Given the description of an element on the screen output the (x, y) to click on. 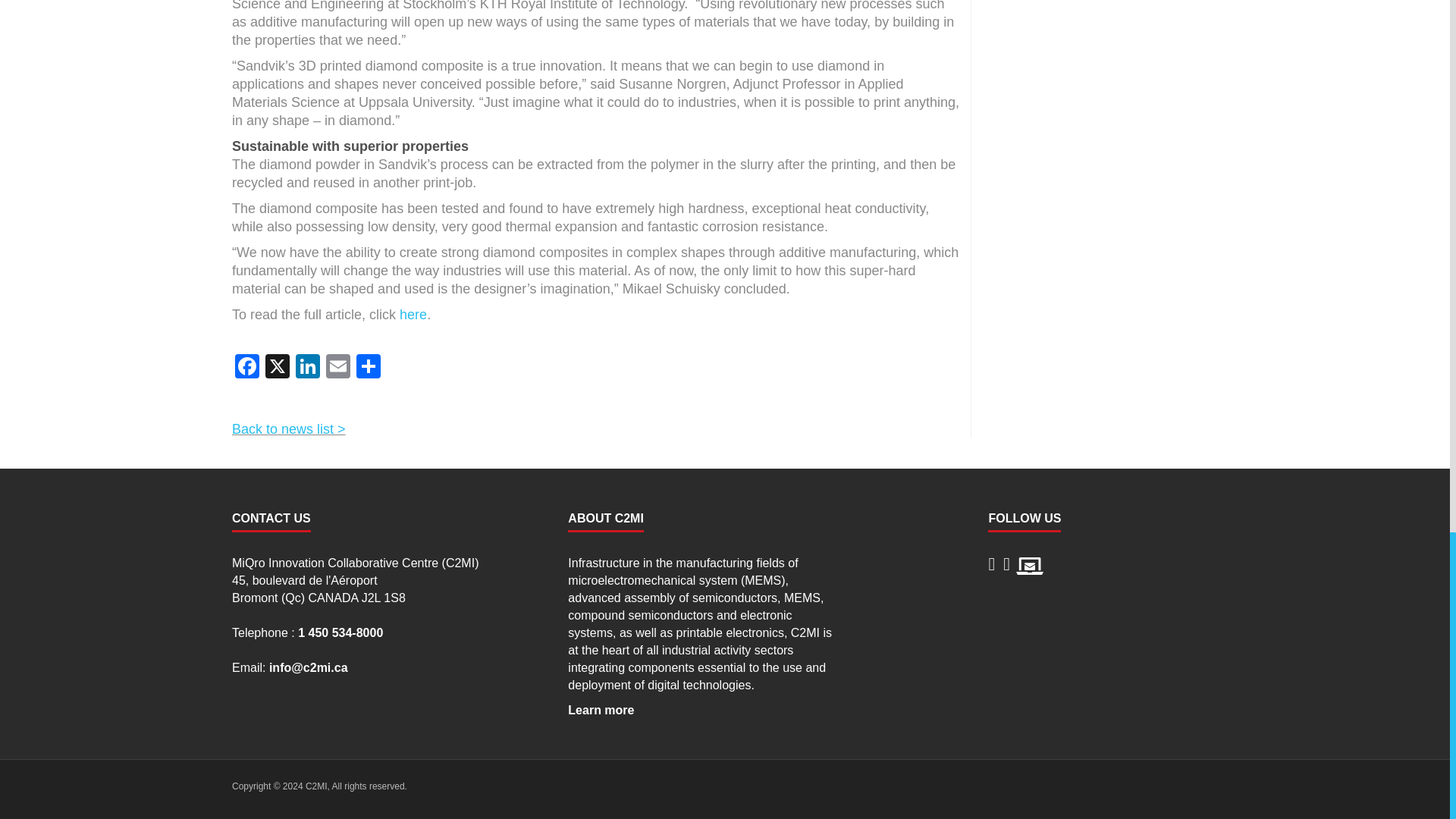
Email (338, 367)
X (277, 367)
LinkedIn (307, 367)
Facebook (246, 367)
